Given the description of an element on the screen output the (x, y) to click on. 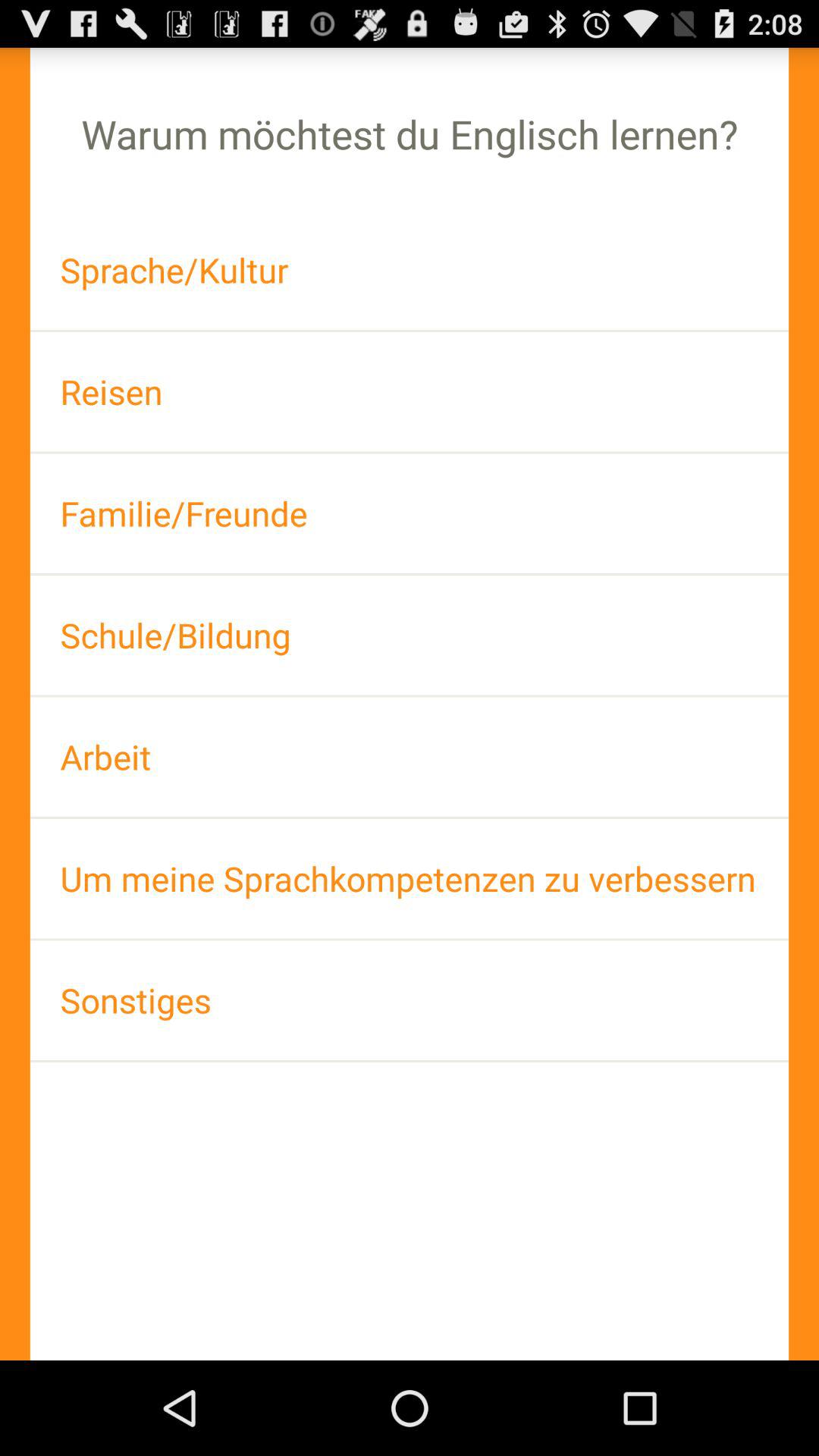
jump until arbeit icon (409, 756)
